Given the description of an element on the screen output the (x, y) to click on. 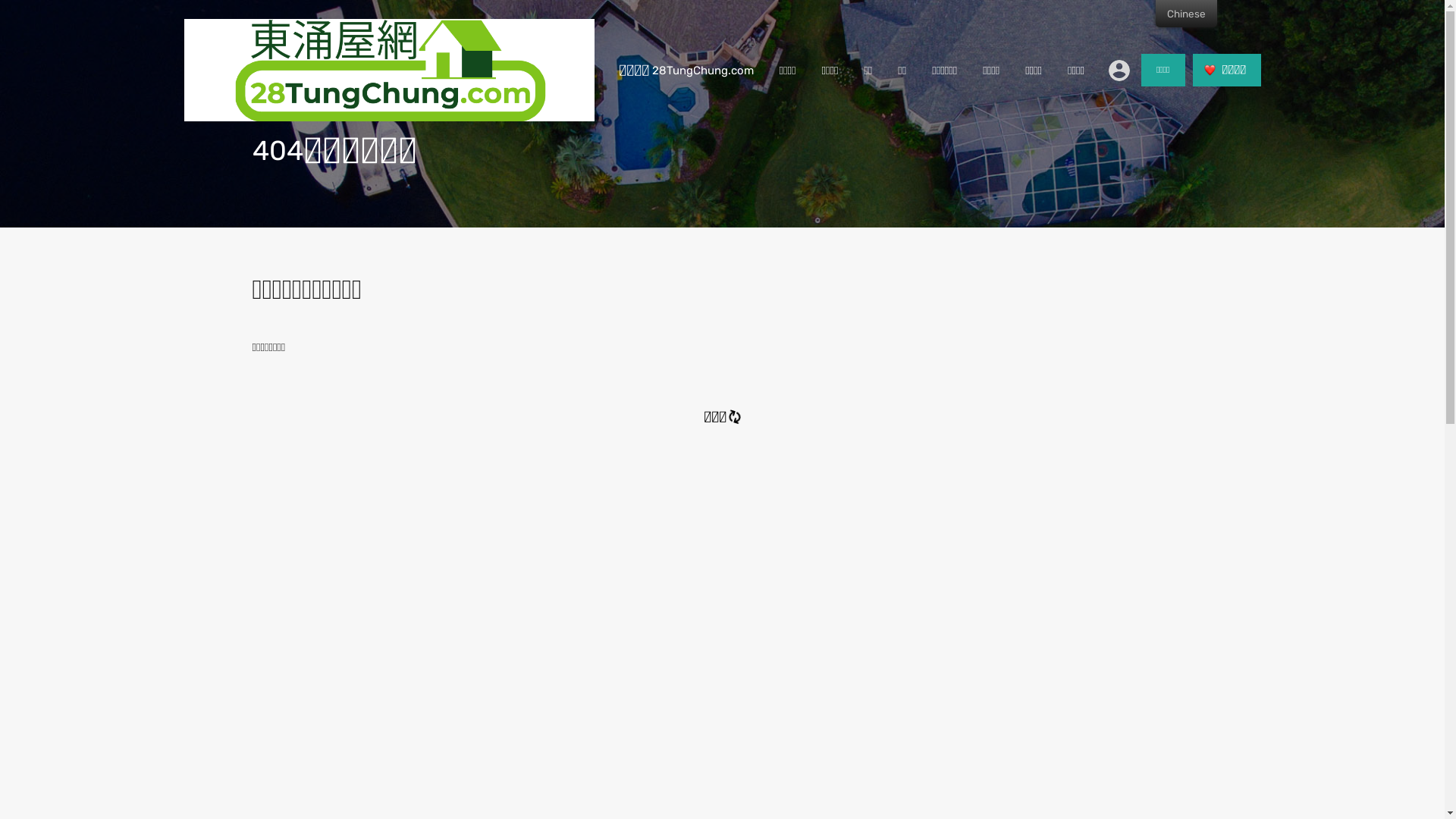
Chinese Element type: text (1186, 13)
